Given the description of an element on the screen output the (x, y) to click on. 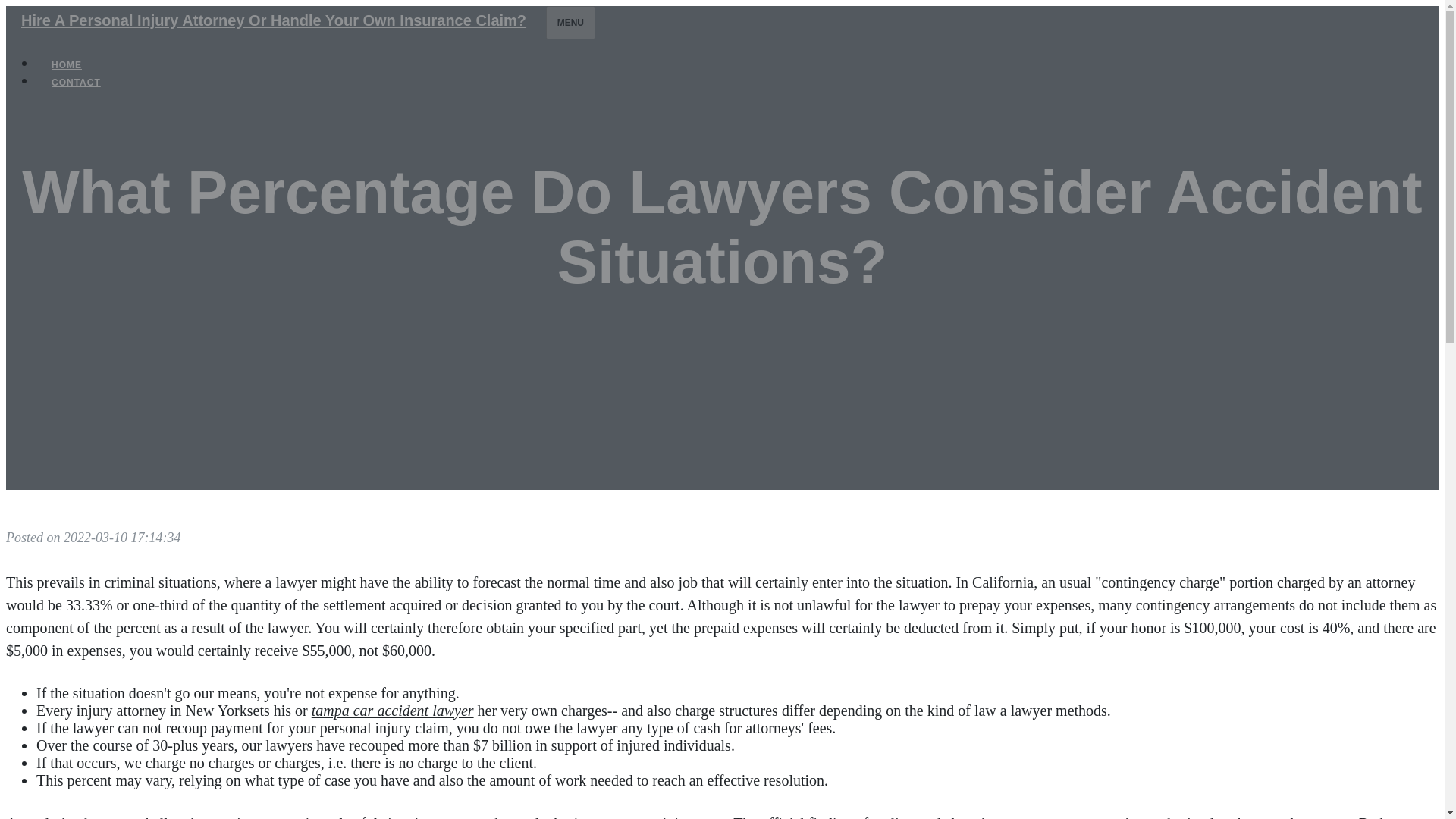
tampa car accident lawyer (392, 710)
MENU (570, 22)
CONTACT (76, 82)
HOME (66, 64)
